Given the description of an element on the screen output the (x, y) to click on. 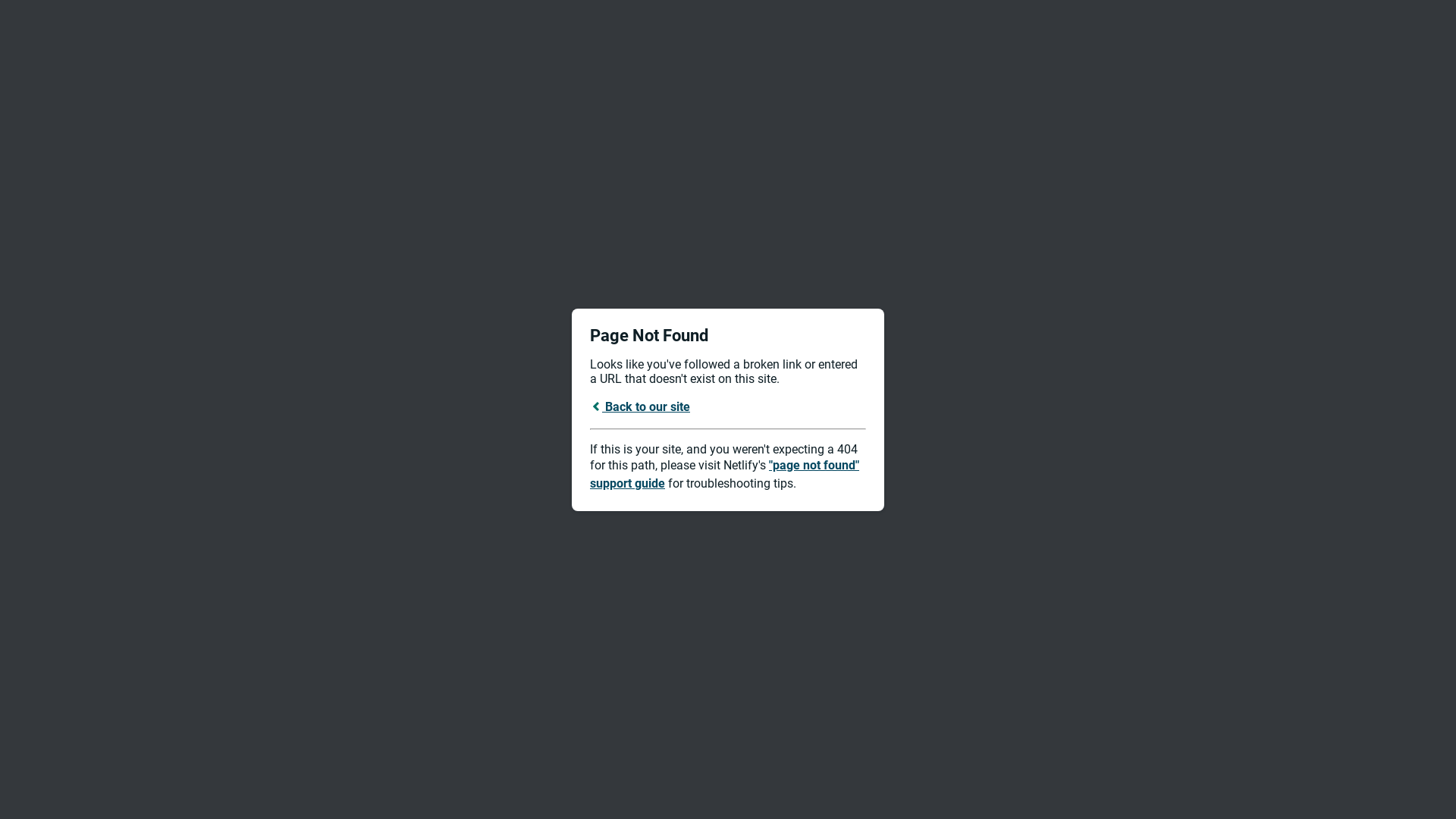
Back to our site Element type: text (639, 405)
"page not found" support guide Element type: text (724, 474)
